Given the description of an element on the screen output the (x, y) to click on. 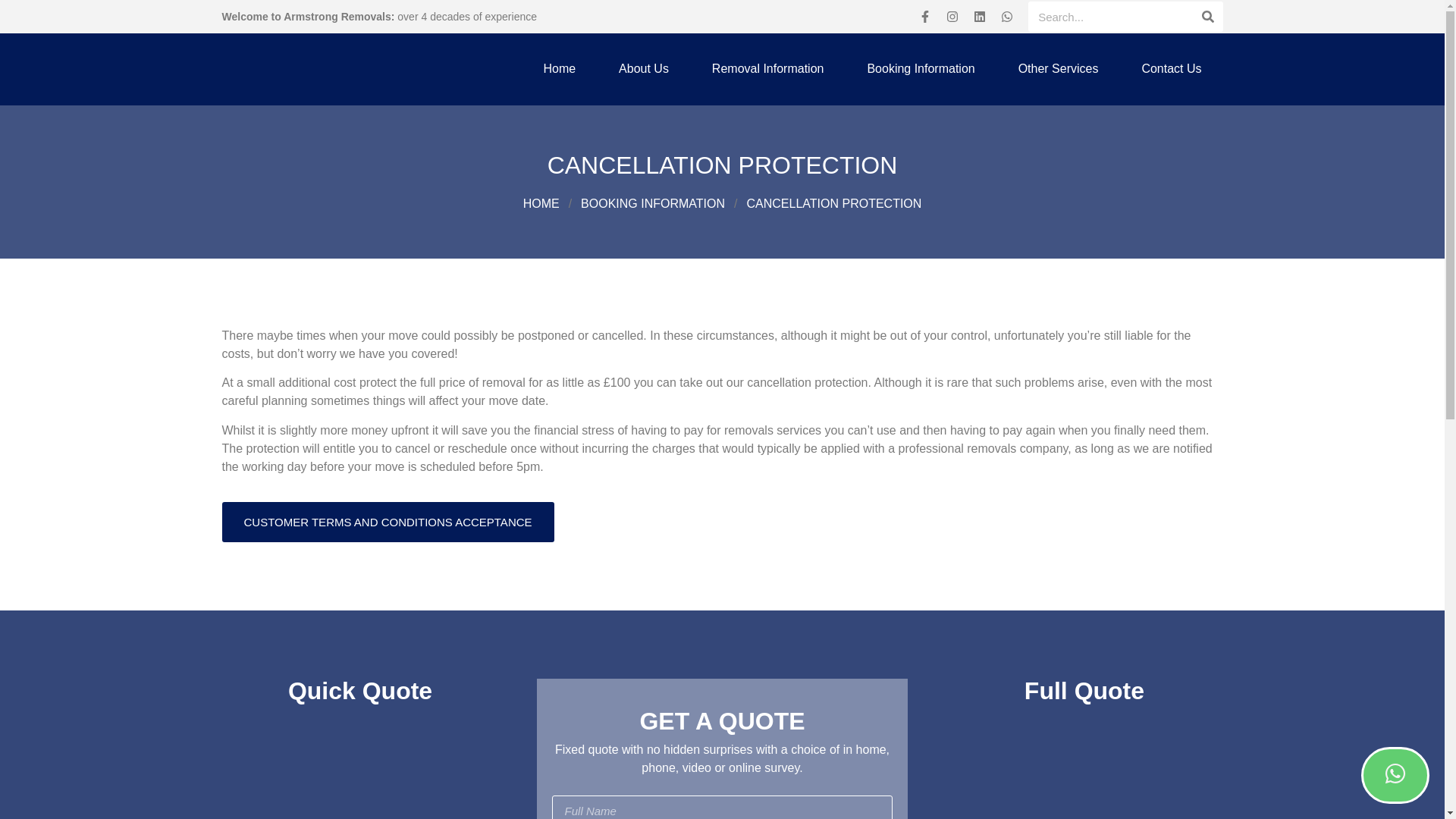
About Us (643, 68)
Removal Information (768, 68)
Home (540, 203)
Booking Information (652, 203)
Home (559, 68)
